Given the description of an element on the screen output the (x, y) to click on. 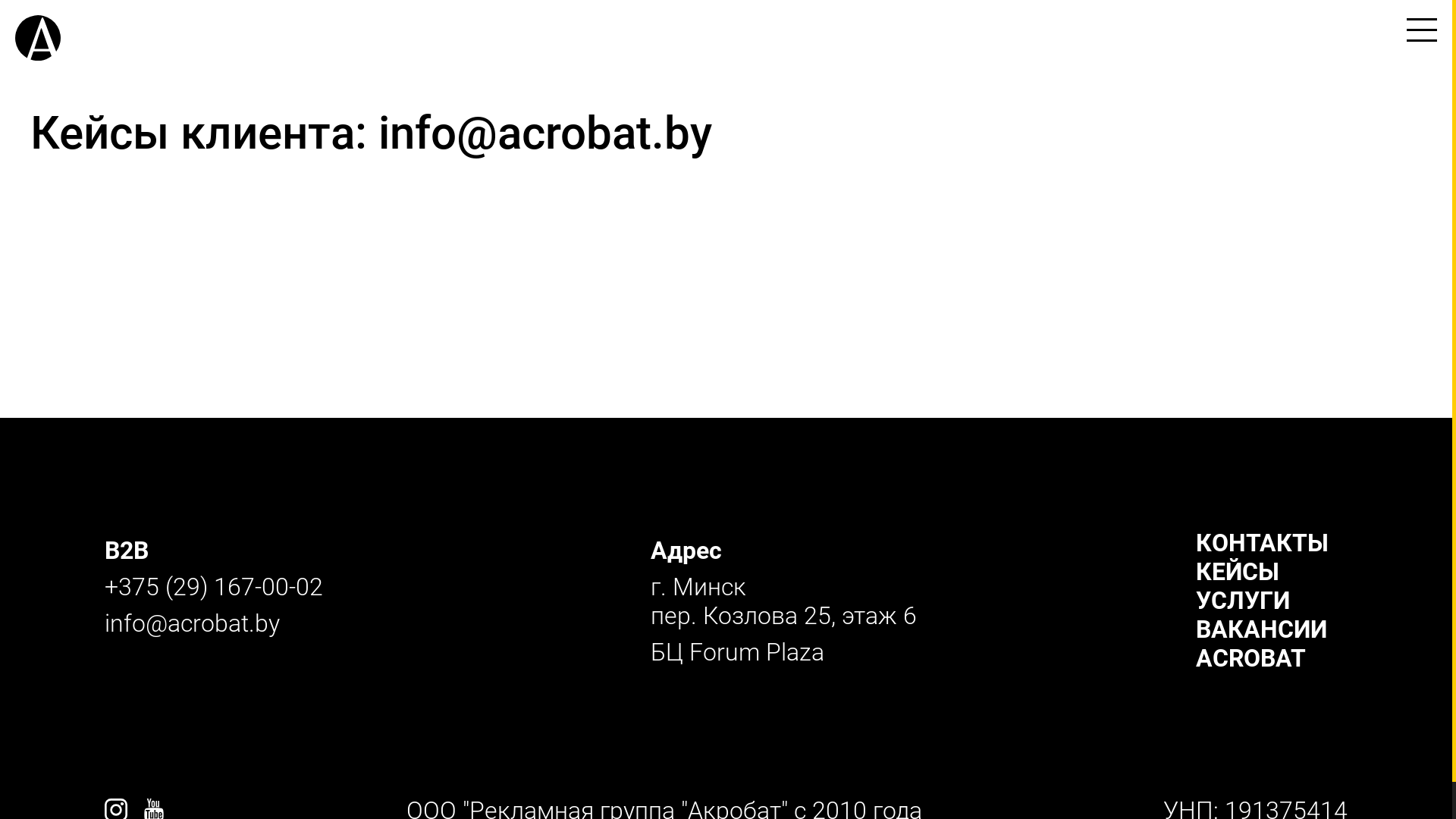
info@acrobat.by Element type: text (191, 622)
ACROBAT Element type: text (1250, 657)
